Given the description of an element on the screen output the (x, y) to click on. 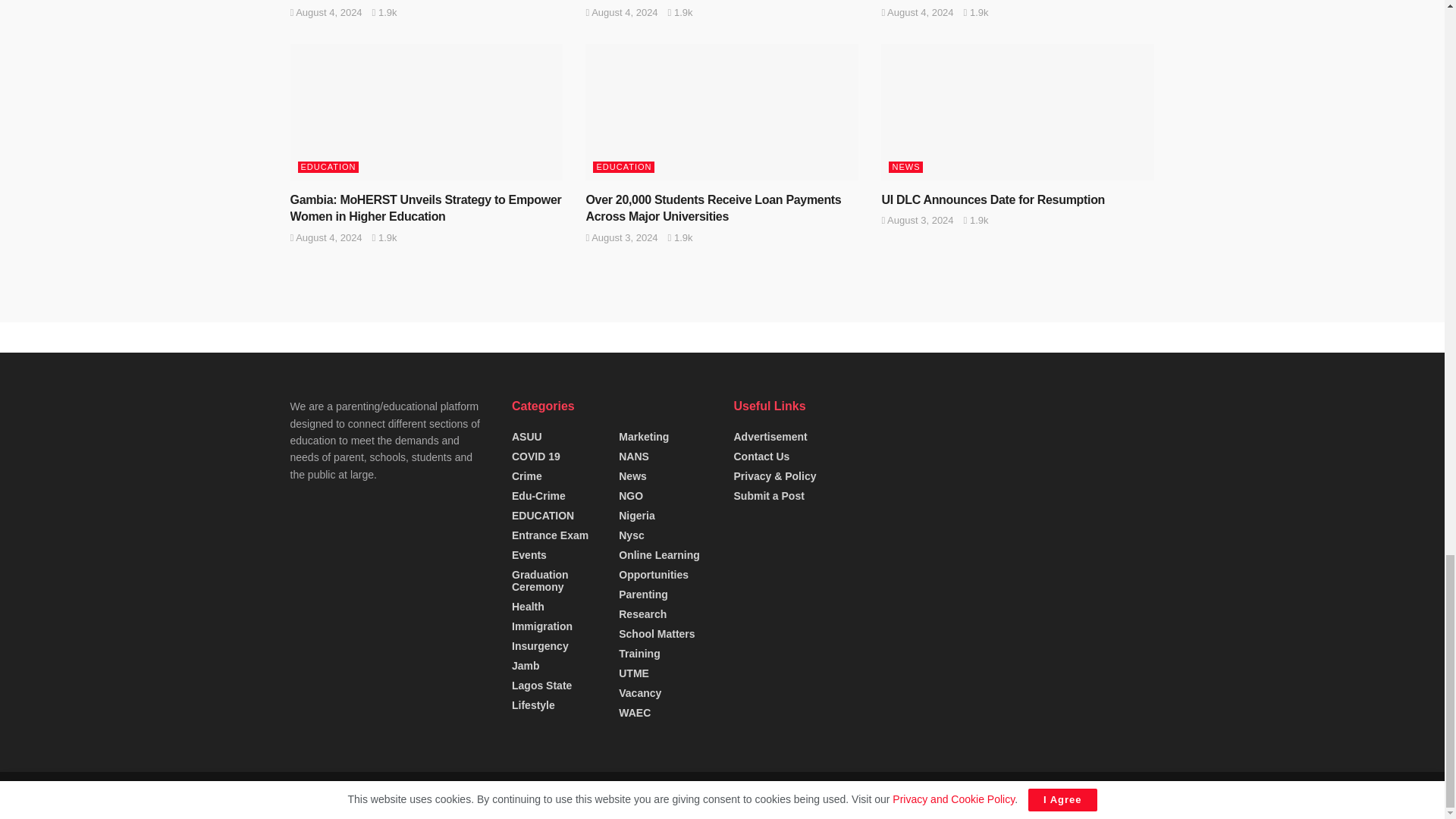
Education  (437, 795)
Education  (565, 795)
